Given the description of an element on the screen output the (x, y) to click on. 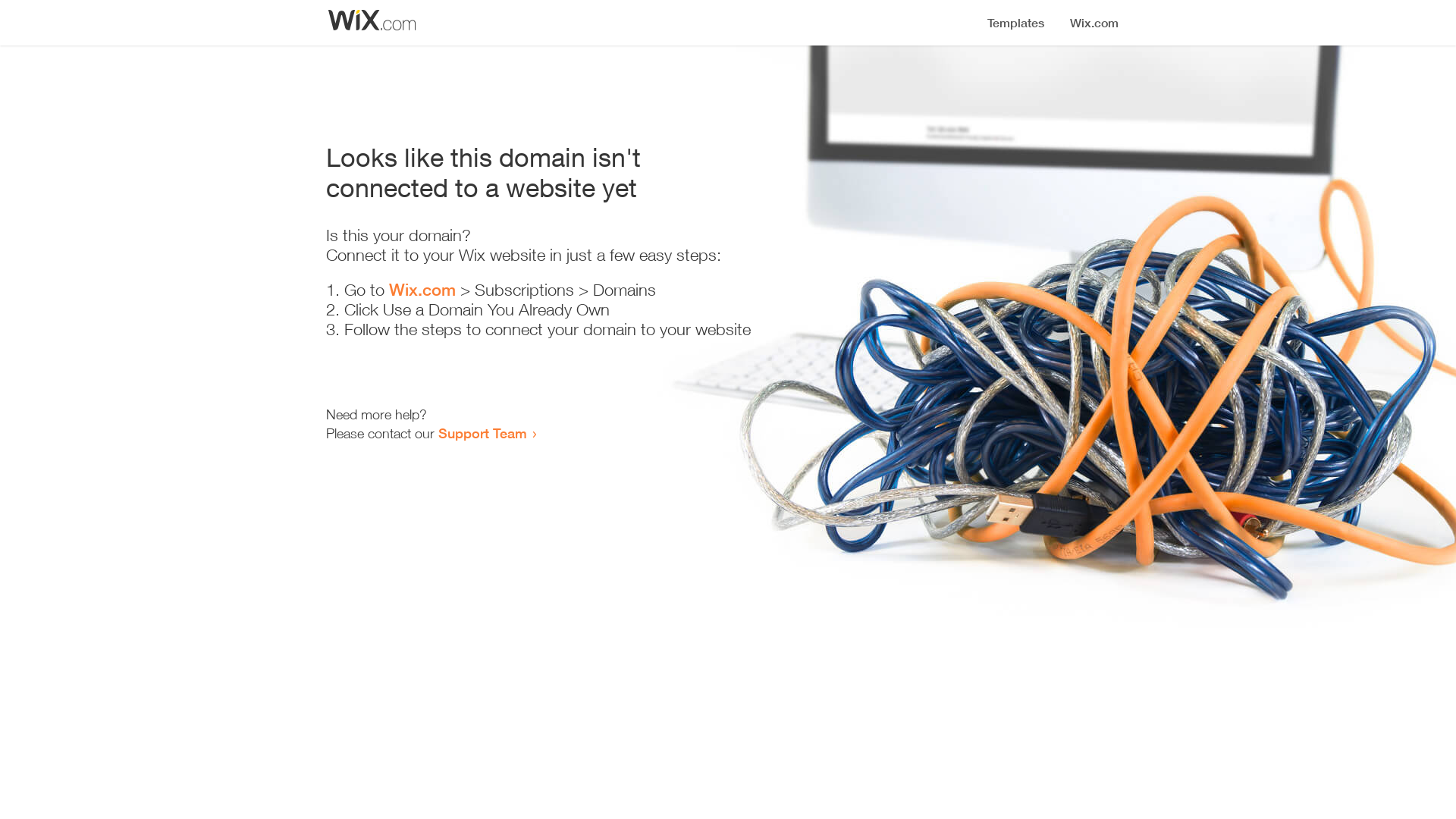
Wix.com Element type: text (422, 289)
Support Team Element type: text (482, 432)
